Given the description of an element on the screen output the (x, y) to click on. 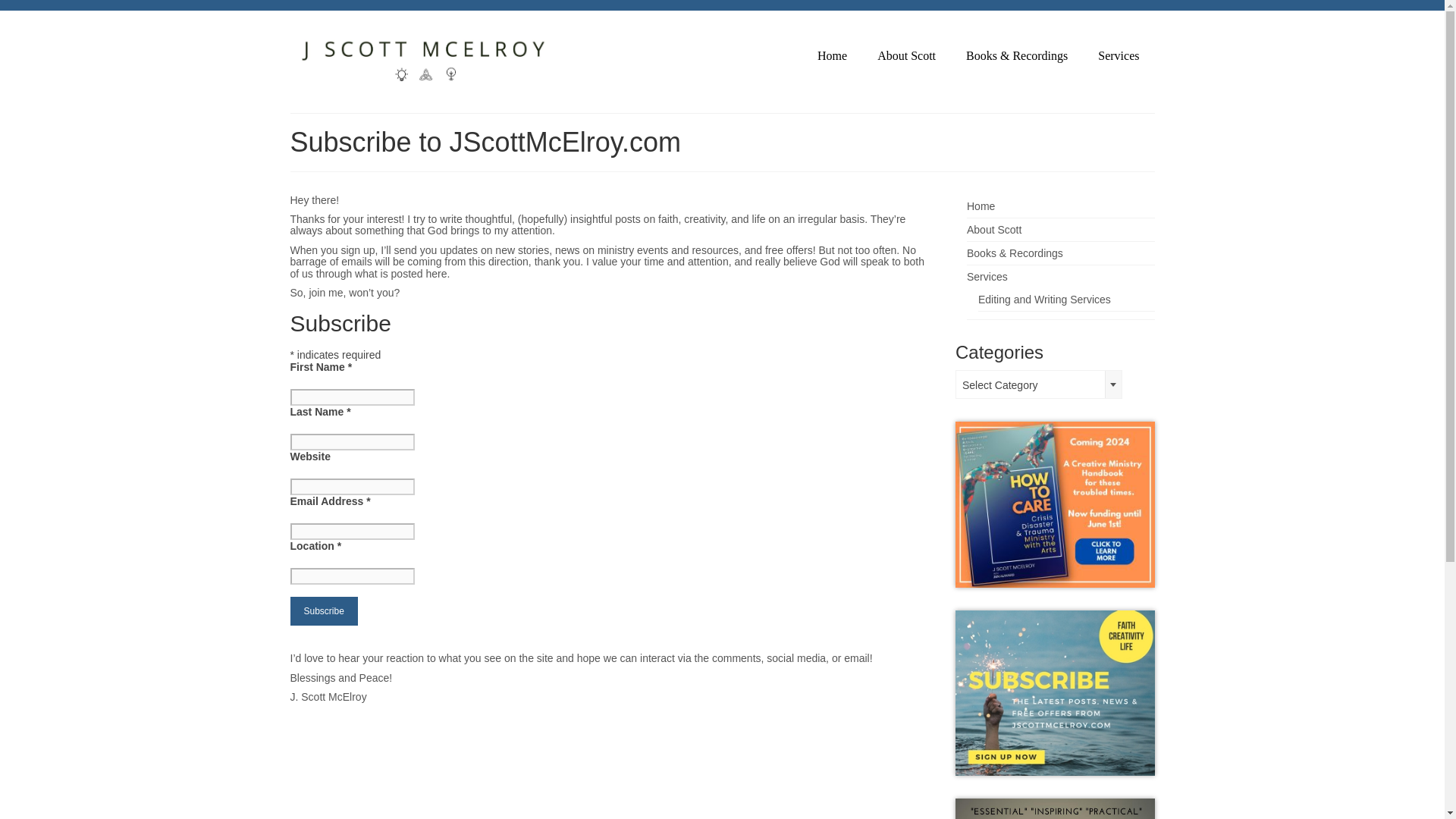
Home (980, 205)
Subscribe (322, 611)
About Scott (905, 55)
Select Category (1038, 385)
About Scott (994, 229)
Editing and Writing Services (1044, 299)
J Scott McElroy (425, 55)
Services (986, 276)
Subscribe (322, 611)
